Given the description of an element on the screen output the (x, y) to click on. 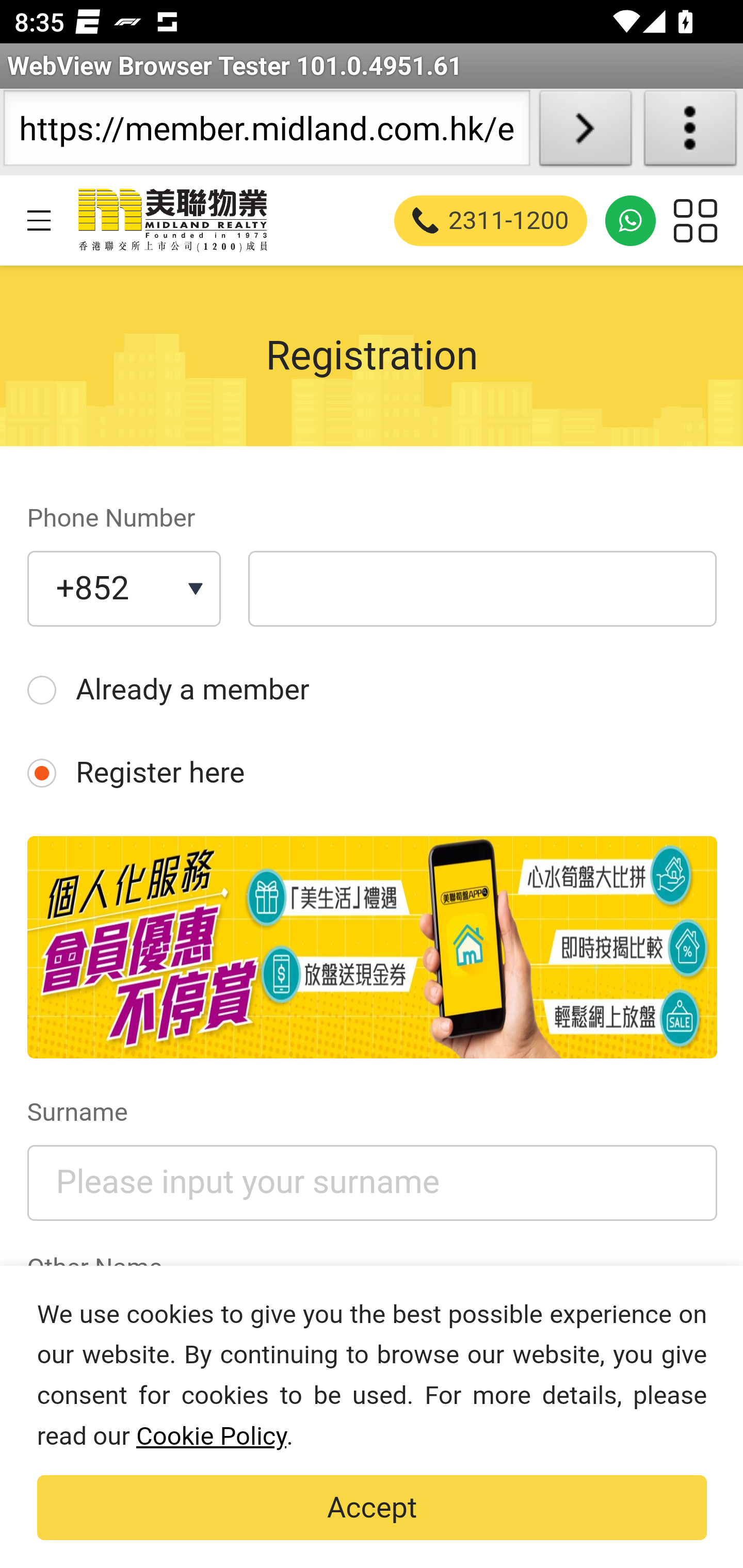
https://member.midland.com.hk/en/register (266, 132)
Load URL (585, 132)
About WebView (690, 132)
Midland Realty - Property Agency in Hong Kong (171, 220)
2311-1200 (490, 219)
WhatsApp: 2311-1200 (630, 219)
+852 (123, 589)
Already a member (371, 689)
Register here (371, 773)
Promotion Banner (371, 947)
Cookie Policy (210, 1435)
Accept (372, 1508)
